Given the description of an element on the screen output the (x, y) to click on. 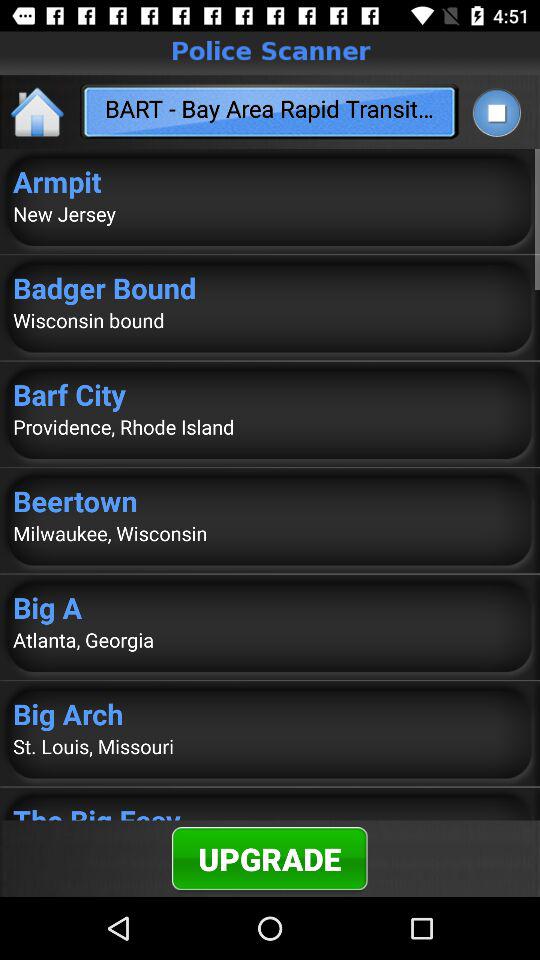
click the app below the big a app (269, 639)
